Given the description of an element on the screen output the (x, y) to click on. 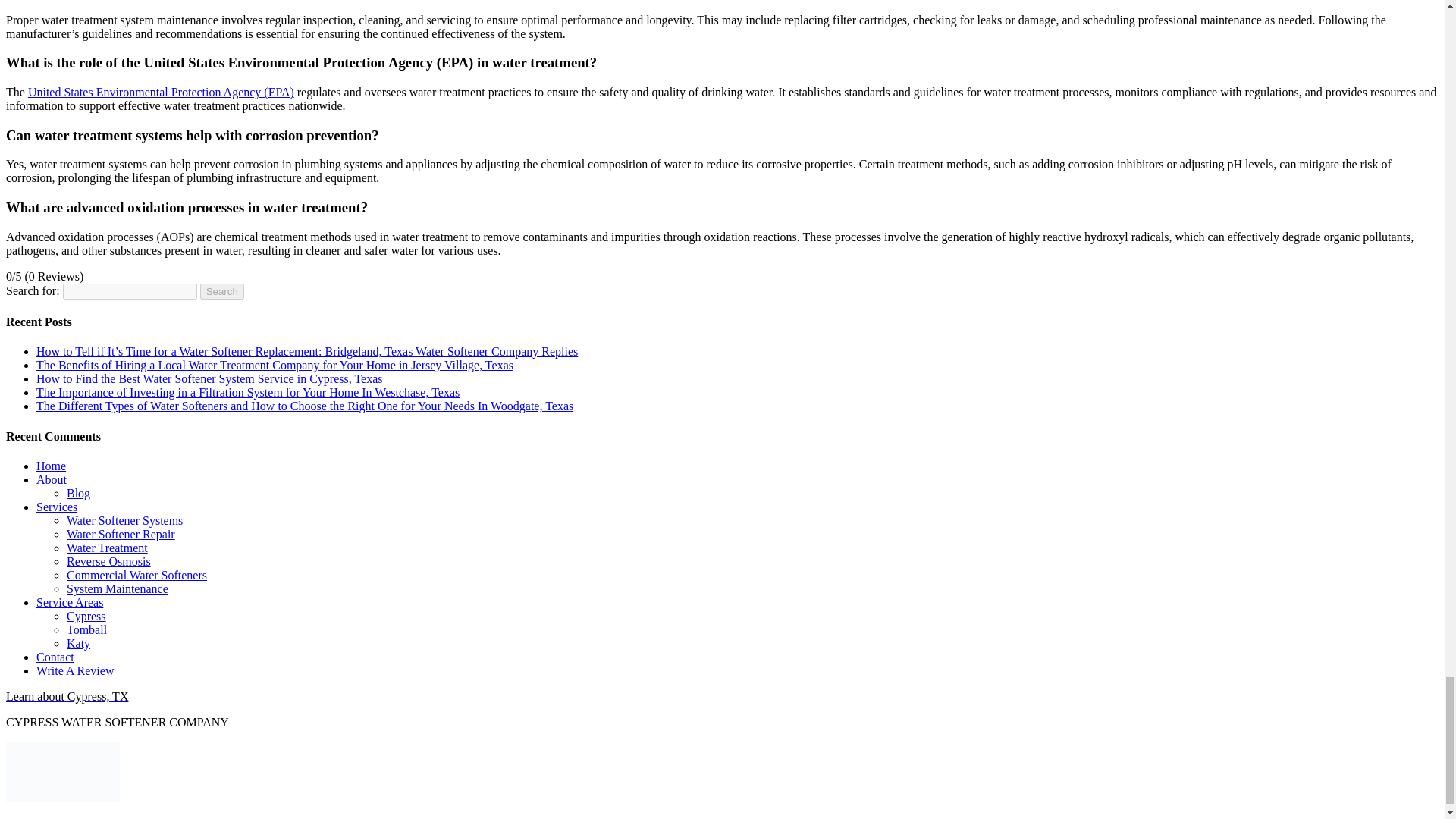
Services (56, 506)
Service Areas (69, 602)
Cypress (86, 615)
Tomball (86, 629)
Search (222, 291)
Commercial Water Softeners (136, 574)
Water Treatment (107, 547)
About (51, 479)
Blog (78, 492)
Reverse Osmosis (108, 561)
Water Softener Repair (120, 533)
Search (222, 291)
System Maintenance (117, 588)
Home (50, 465)
